Given the description of an element on the screen output the (x, y) to click on. 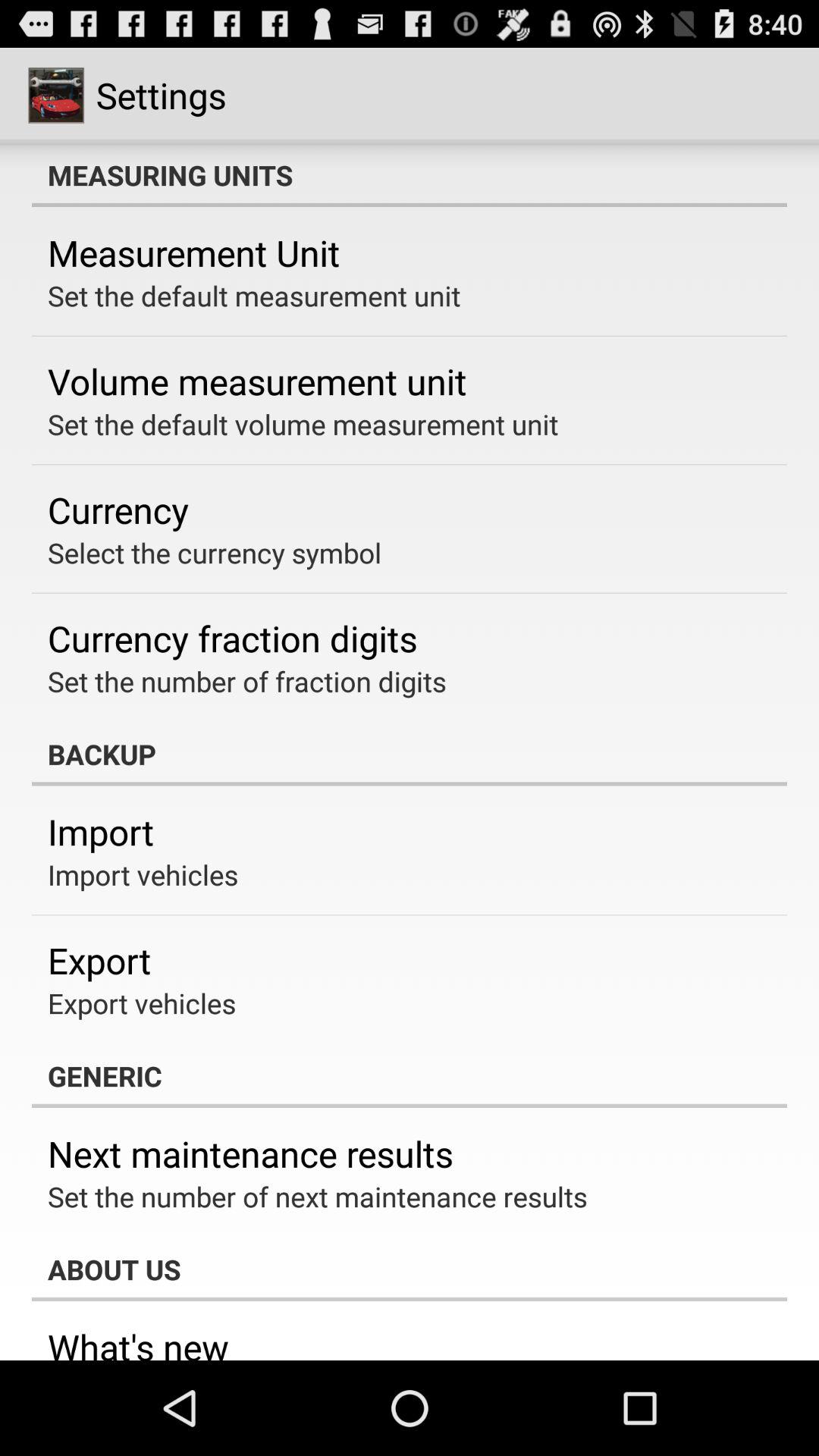
flip until the generic item (409, 1075)
